Given the description of an element on the screen output the (x, y) to click on. 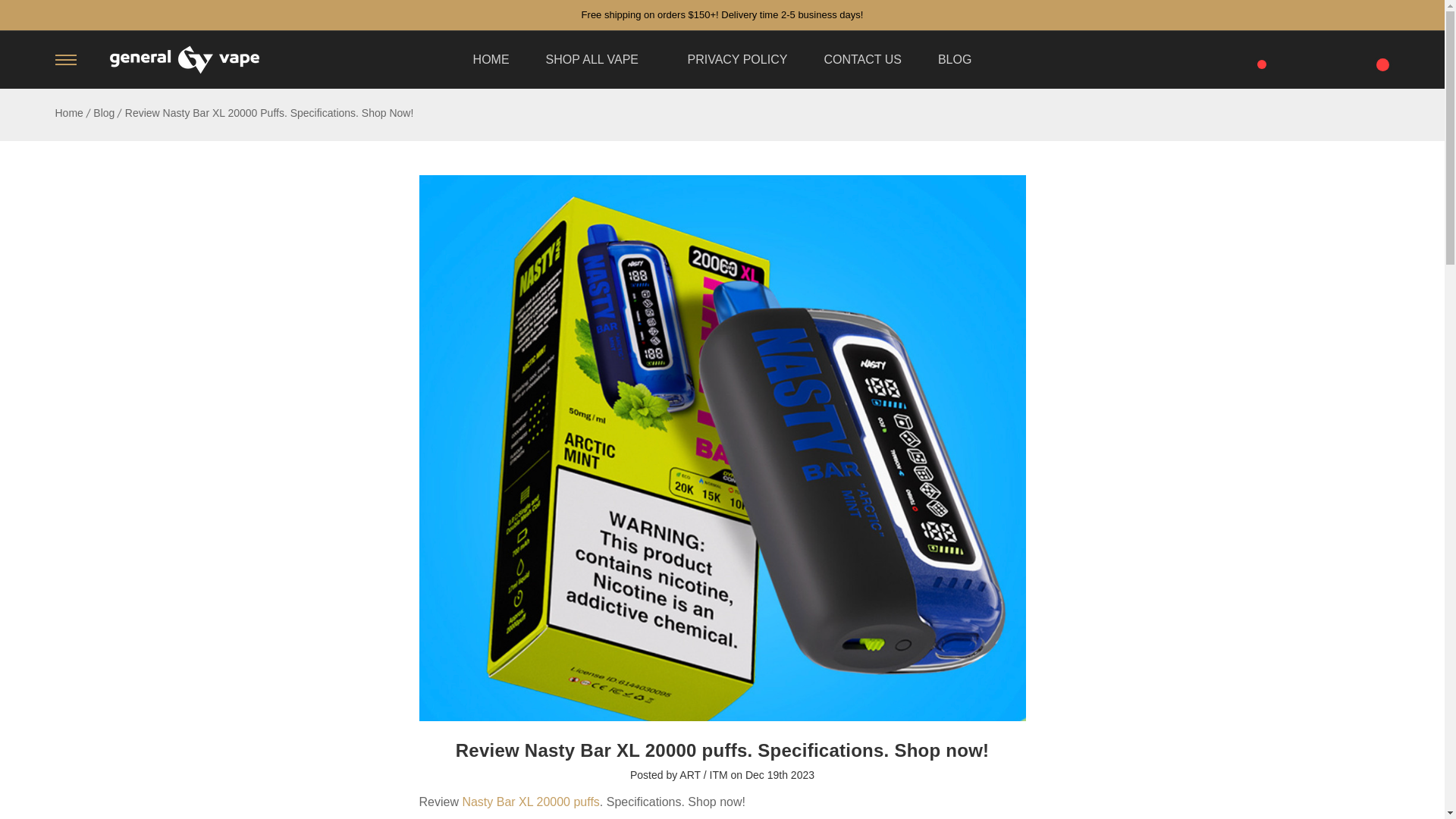
General Vape (183, 60)
SHOP ALL VAPE (598, 59)
PRIVACY POLICY (737, 59)
CONTACT US (862, 59)
